Given the description of an element on the screen output the (x, y) to click on. 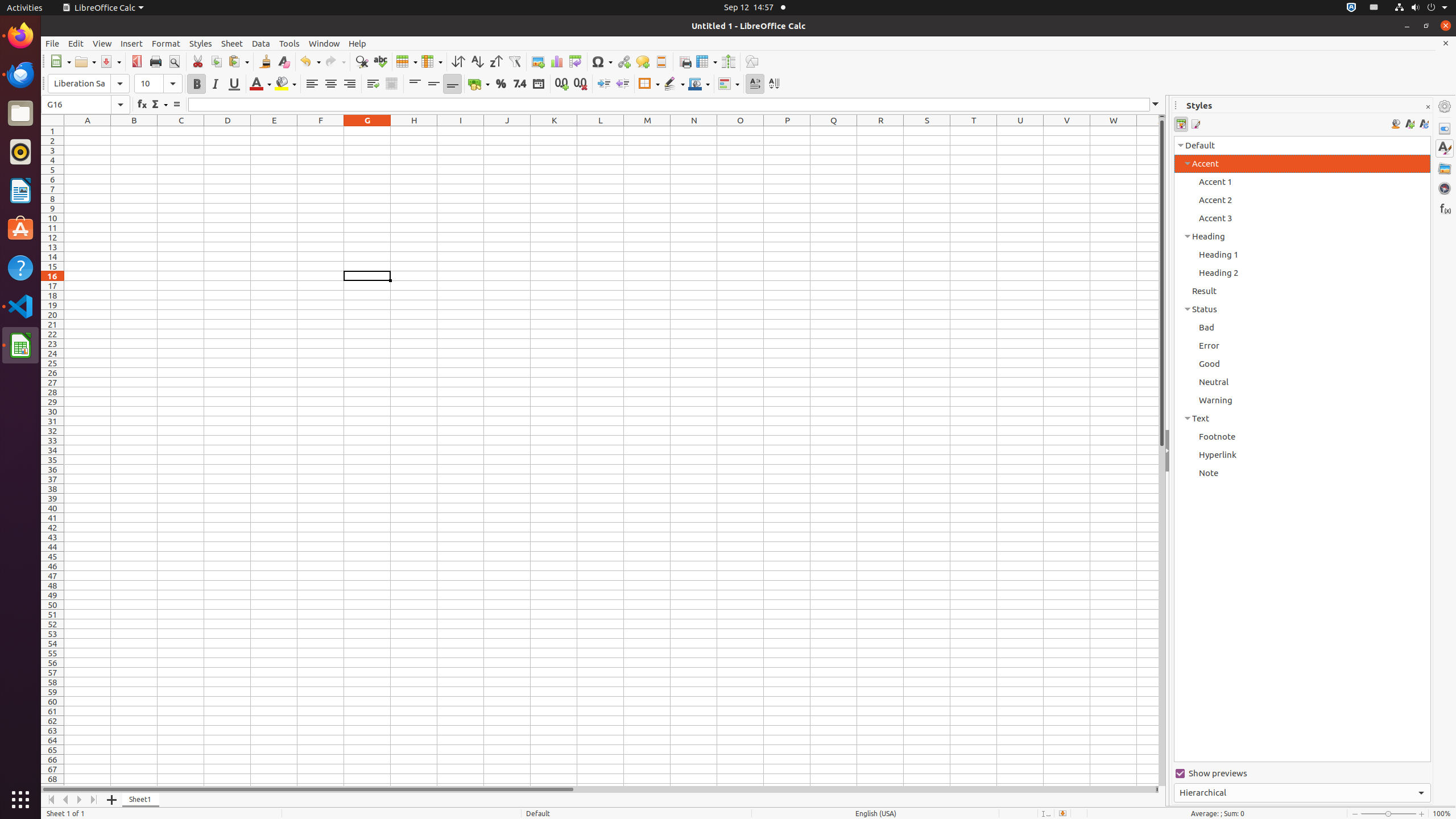
Styles Element type: radio-button (1444, 148)
Image Element type: push-button (537, 61)
Row Element type: push-button (406, 61)
Ubuntu Software Element type: push-button (20, 229)
Navigator Element type: radio-button (1444, 188)
